Given the description of an element on the screen output the (x, y) to click on. 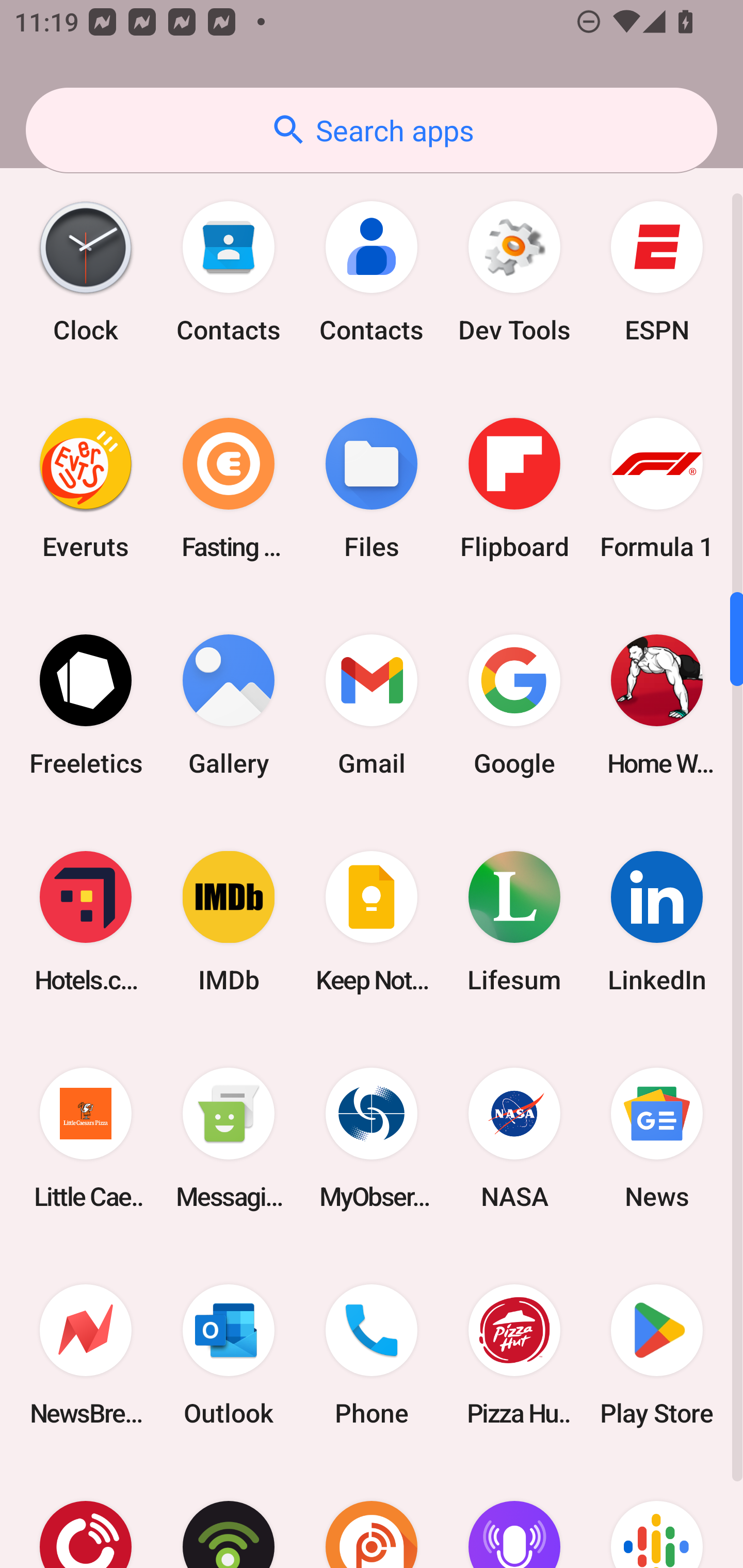
  Search apps (371, 130)
Clock (85, 271)
Contacts (228, 271)
Contacts (371, 271)
Dev Tools (514, 271)
ESPN (656, 271)
Everuts (85, 488)
Fasting Coach (228, 488)
Files (371, 488)
Flipboard (514, 488)
Formula 1 (656, 488)
Freeletics (85, 705)
Gallery (228, 705)
Gmail (371, 705)
Google (514, 705)
Home Workout (656, 705)
Hotels.com (85, 921)
IMDb (228, 921)
Keep Notes (371, 921)
Lifesum (514, 921)
LinkedIn (656, 921)
Little Caesars Pizza (85, 1138)
Messaging (228, 1138)
MyObservatory (371, 1138)
NASA (514, 1138)
News (656, 1138)
NewsBreak (85, 1354)
Outlook (228, 1354)
Phone (371, 1354)
Pizza Hut HK & Macau (514, 1354)
Play Store (656, 1354)
Player FM (85, 1515)
Podbean (228, 1515)
Podcast Addict (371, 1515)
Podcast Player (514, 1515)
Podcasts (656, 1515)
